Given the description of an element on the screen output the (x, y) to click on. 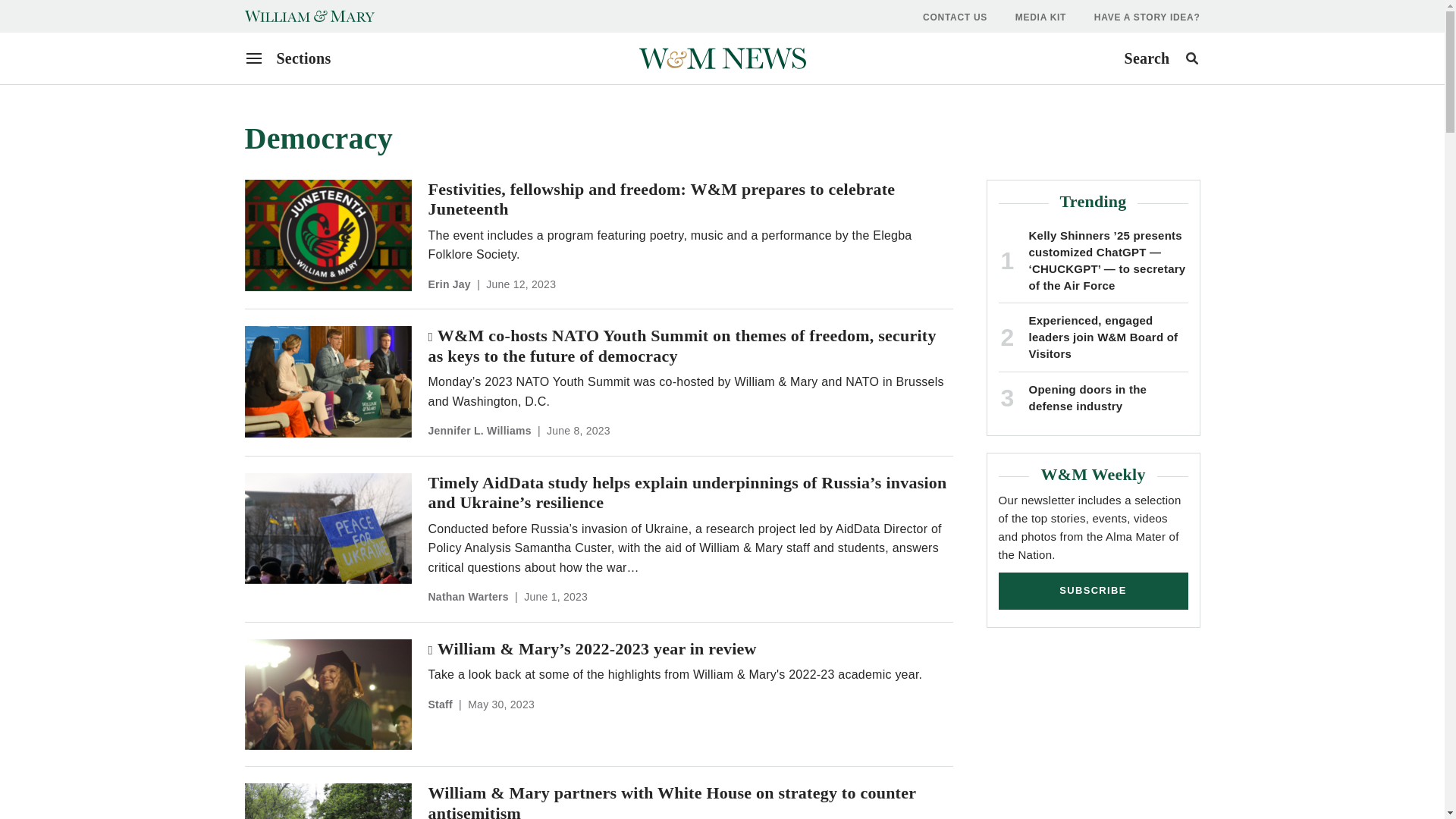
HAVE A STORY IDEA? (1146, 17)
Jennifer L. Williams (479, 430)
Sections (288, 58)
CONTACT US (955, 17)
Staff (439, 704)
MEDIA KIT (1039, 17)
Nathan Warters (1161, 58)
Erin Jay (468, 596)
